Given the description of an element on the screen output the (x, y) to click on. 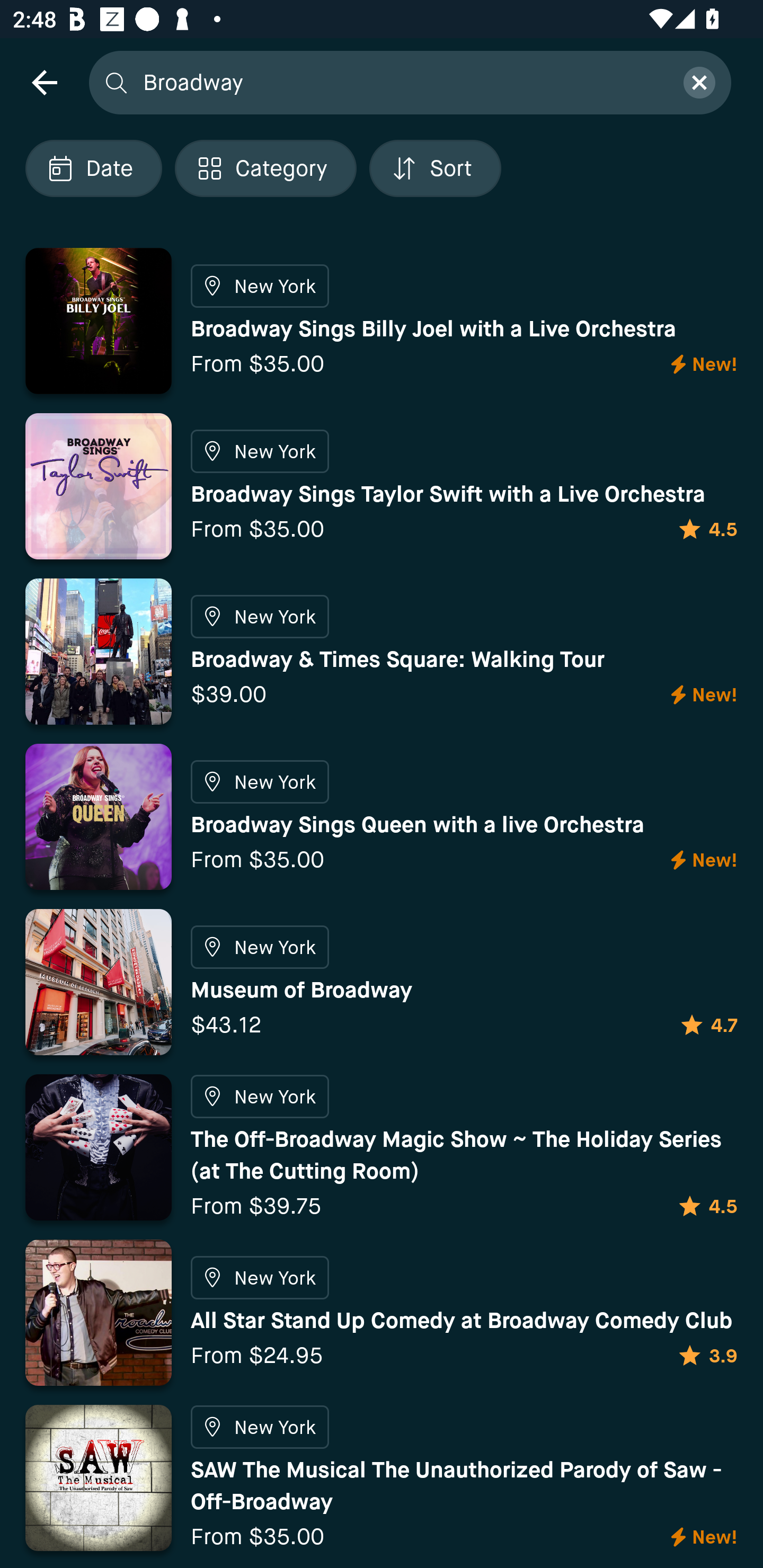
navigation icon (44, 81)
Broadway (402, 81)
Localized description Date (93, 168)
Localized description Category (265, 168)
Localized description Sort (435, 168)
